Given the description of an element on the screen output the (x, y) to click on. 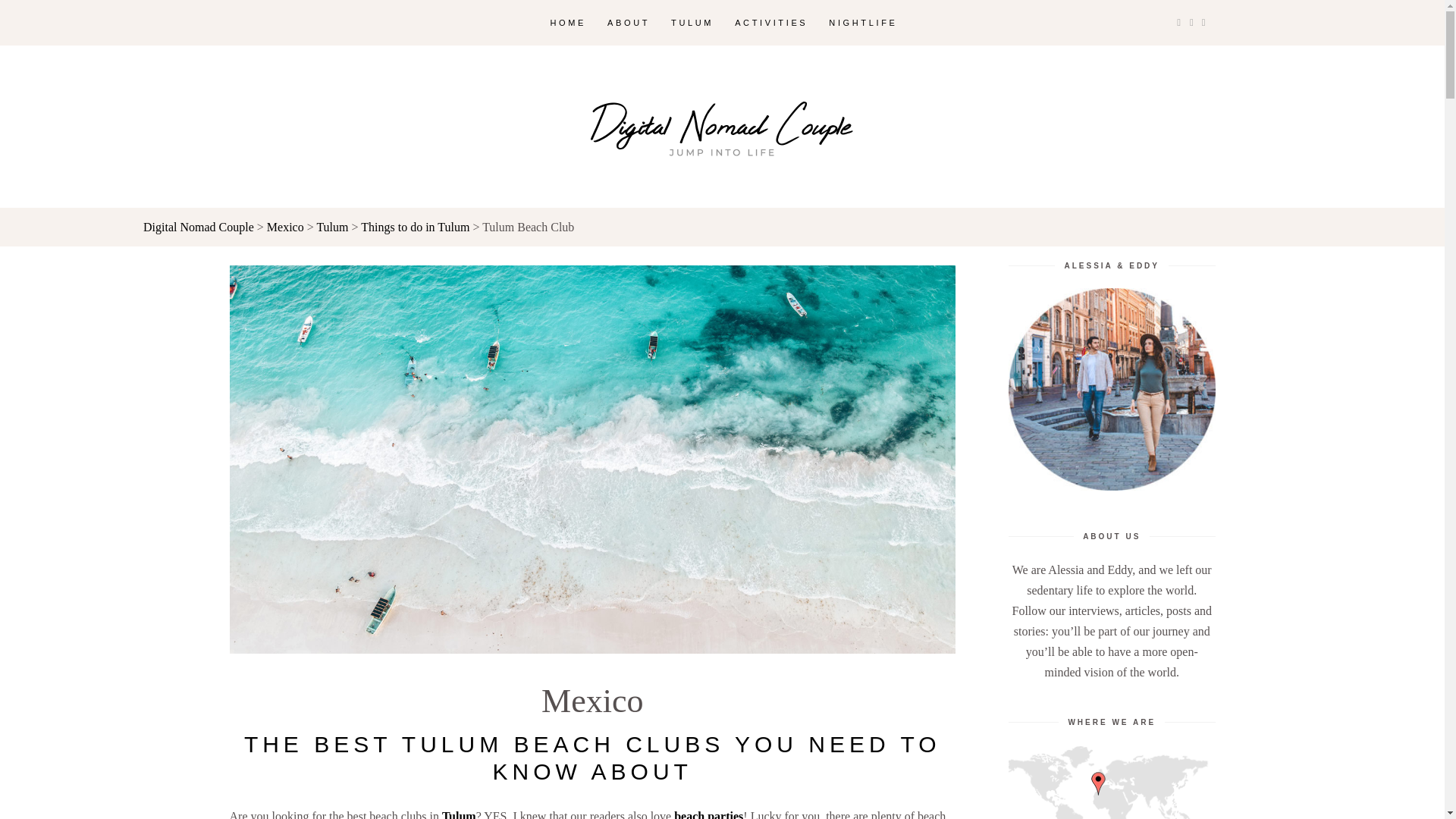
ABOUT (628, 22)
Go to Digital Nomad Couple. (197, 226)
ACTIVITIES (770, 22)
Go to Tulum. (331, 226)
Go to Things to do in Tulum. (414, 226)
Go to Mexico. (285, 226)
HOME (568, 22)
NIGHTLIFE (862, 22)
TULUM (692, 22)
